Given the description of an element on the screen output the (x, y) to click on. 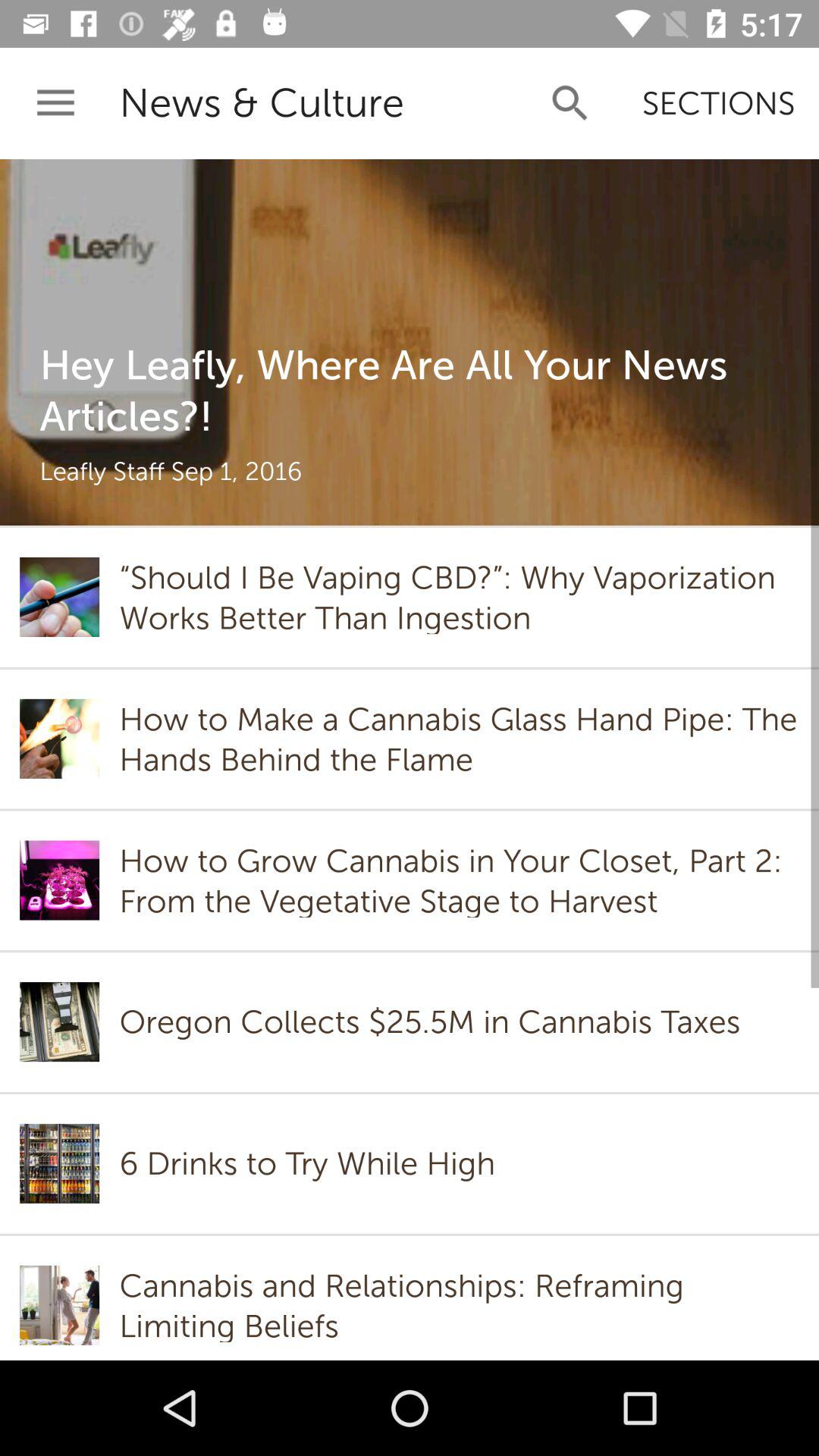
swipe until the oregon collects 25 (434, 1021)
